Given the description of an element on the screen output the (x, y) to click on. 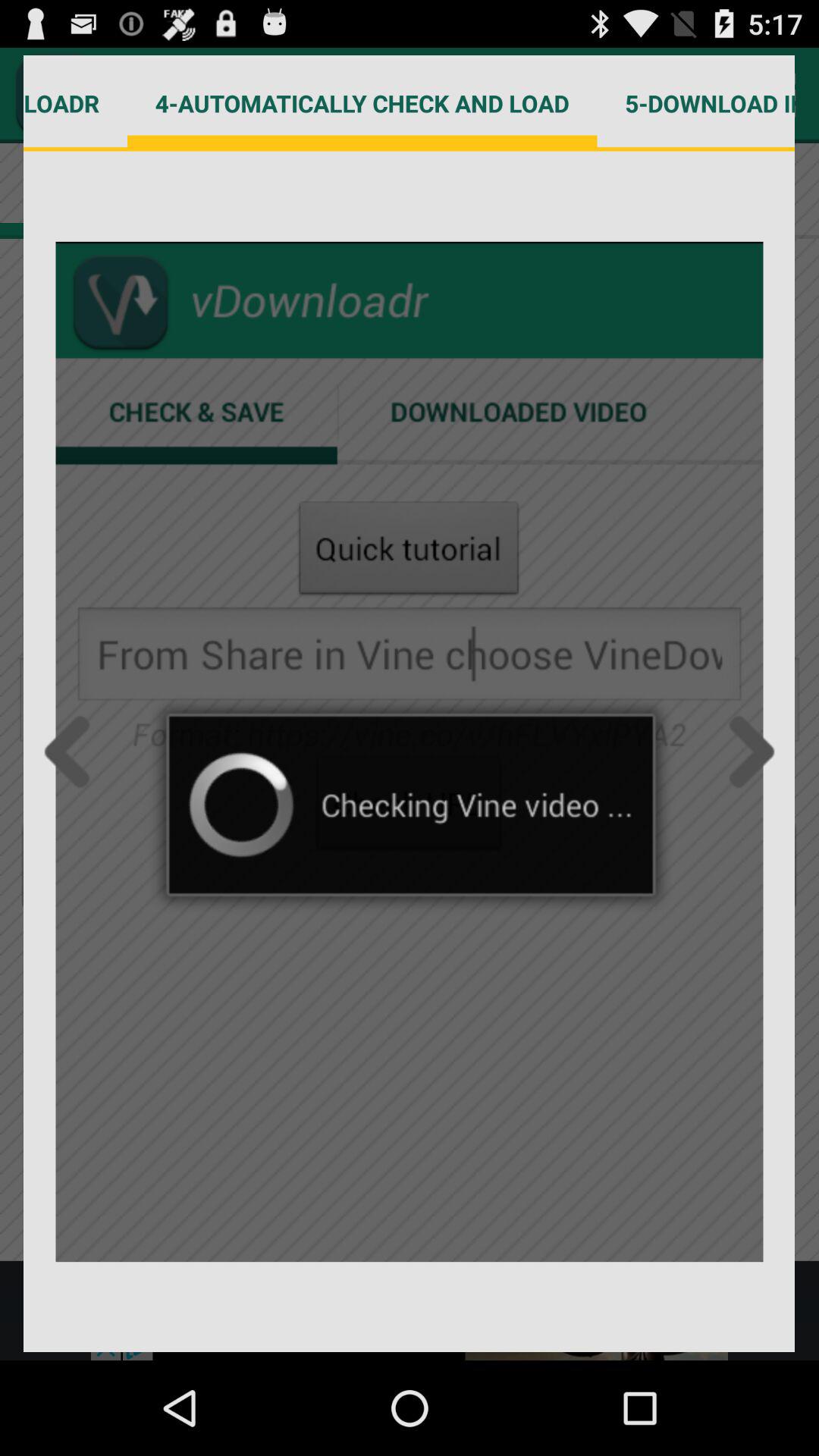
back in gallery (71, 751)
